Given the description of an element on the screen output the (x, y) to click on. 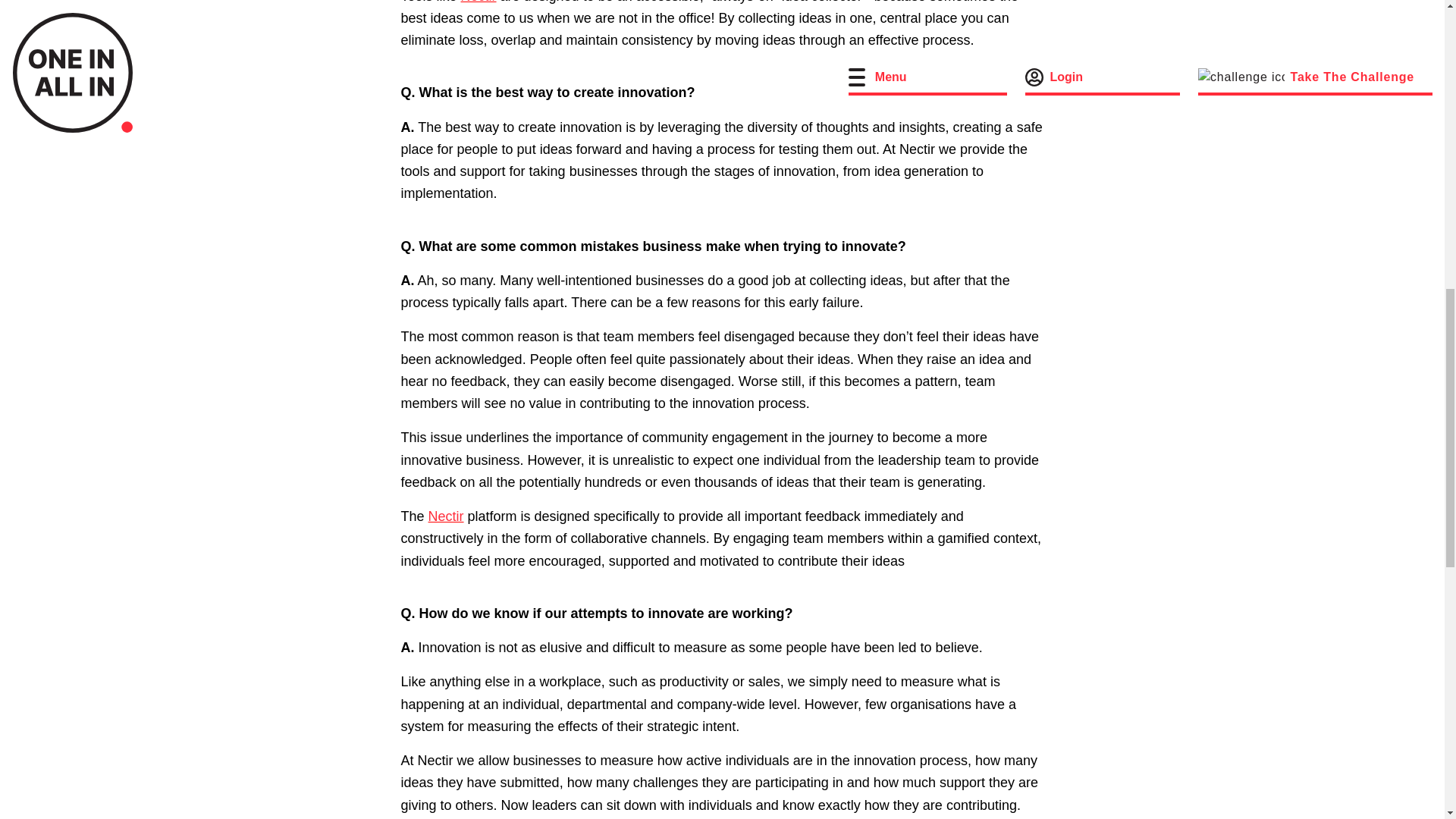
Nectir (478, 1)
Nectir (446, 516)
